Given the description of an element on the screen output the (x, y) to click on. 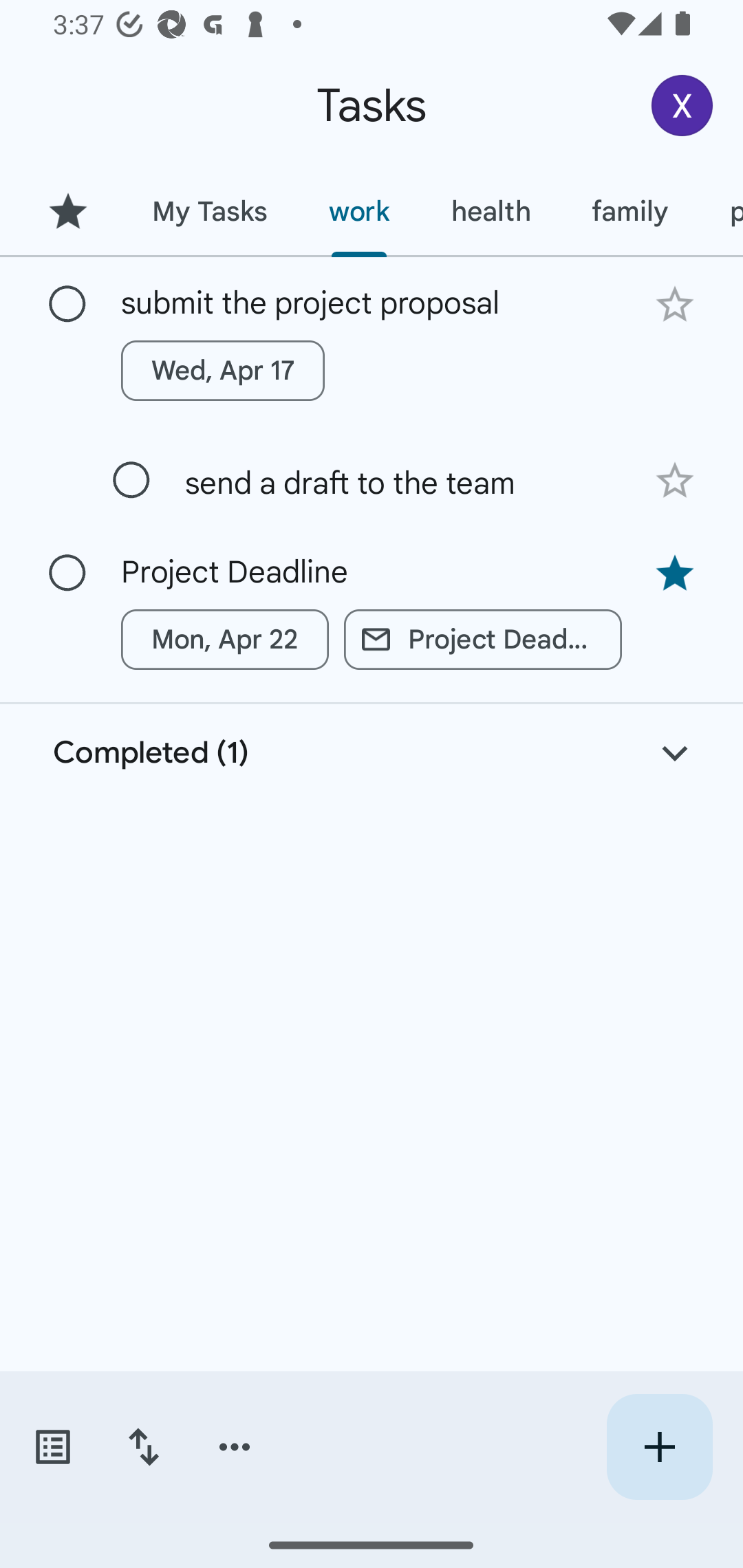
Starred (67, 211)
My Tasks (209, 211)
health (490, 211)
family (629, 211)
Add star (674, 303)
Mark as complete (67, 304)
Wed, Apr 17 (222, 369)
Add star (674, 480)
Mark as complete (131, 480)
Remove star (674, 573)
Mark as complete (67, 572)
Mon, Apr 22 (225, 639)
Project Deadline Related link (482, 639)
Completed (1) (371, 753)
Switch task lists (52, 1447)
Create new task (659, 1446)
Change sort order (143, 1446)
More options (234, 1446)
